Given the description of an element on the screen output the (x, y) to click on. 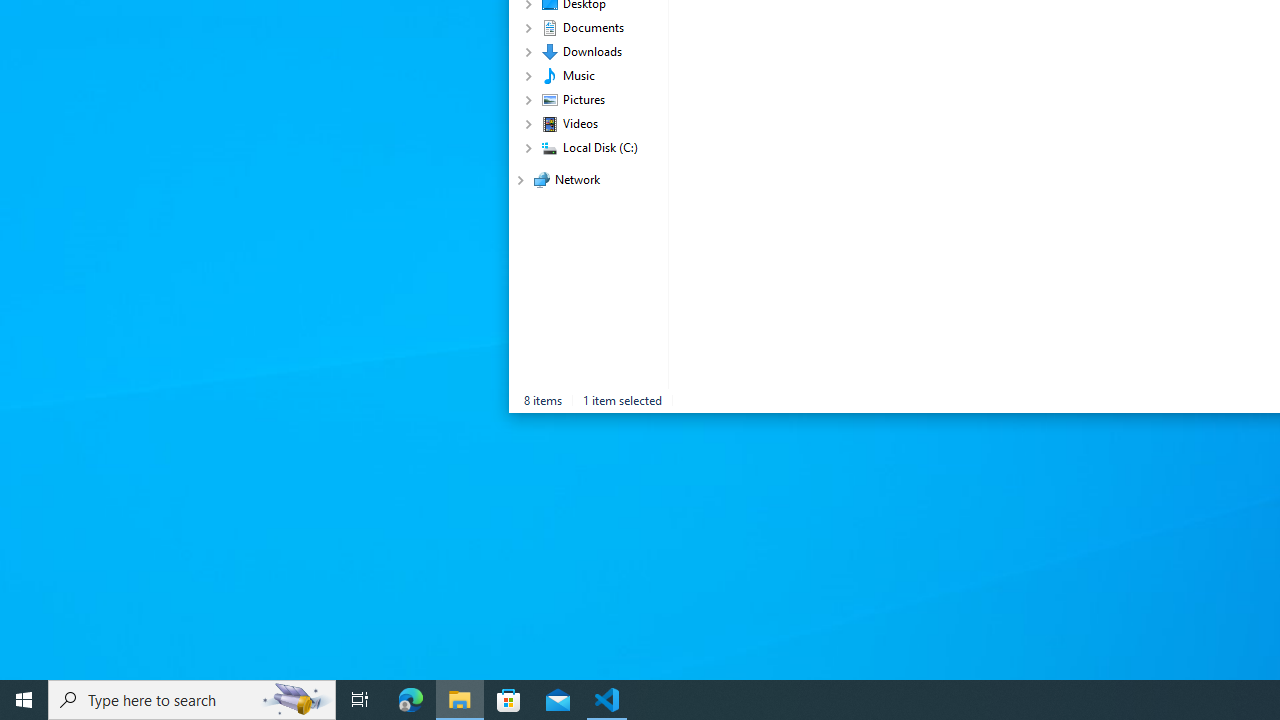
File Explorer - 1 running window (460, 699)
